Given the description of an element on the screen output the (x, y) to click on. 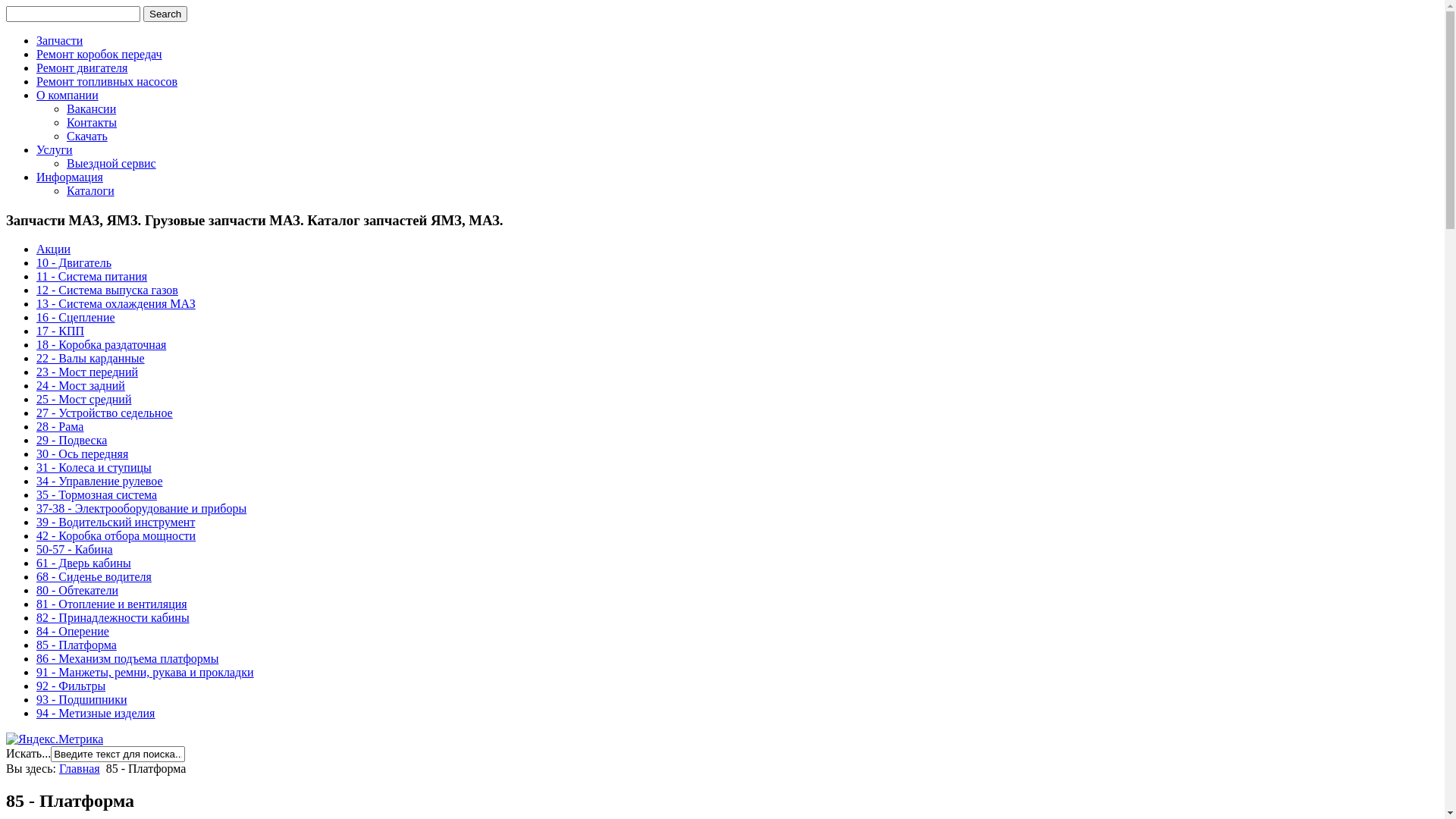
Search Element type: text (165, 13)
